Given the description of an element on the screen output the (x, y) to click on. 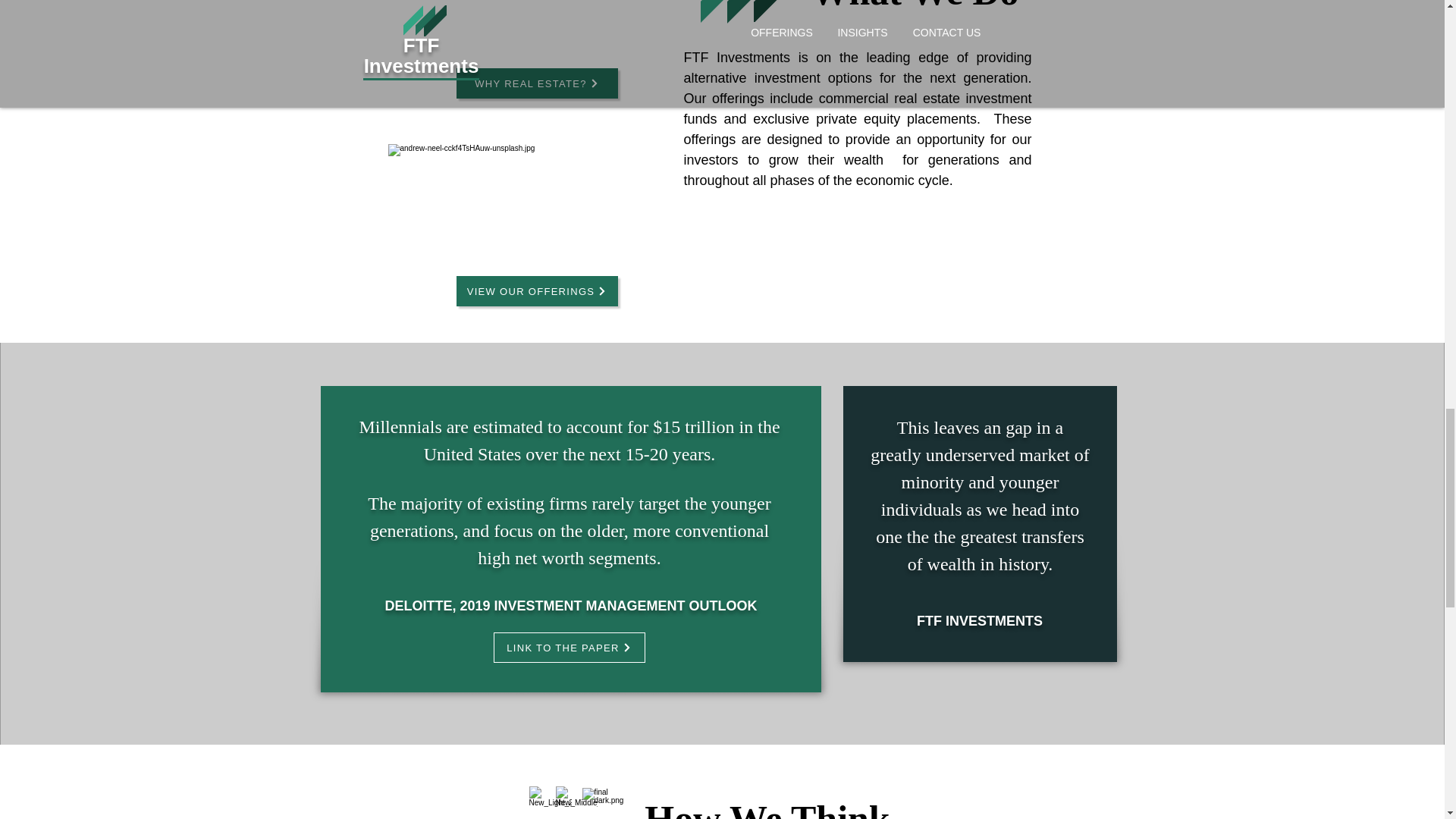
WHY REAL ESTATE? (537, 82)
LINK TO THE PAPER (569, 647)
VIEW OUR OFFERINGS (537, 291)
